Given the description of an element on the screen output the (x, y) to click on. 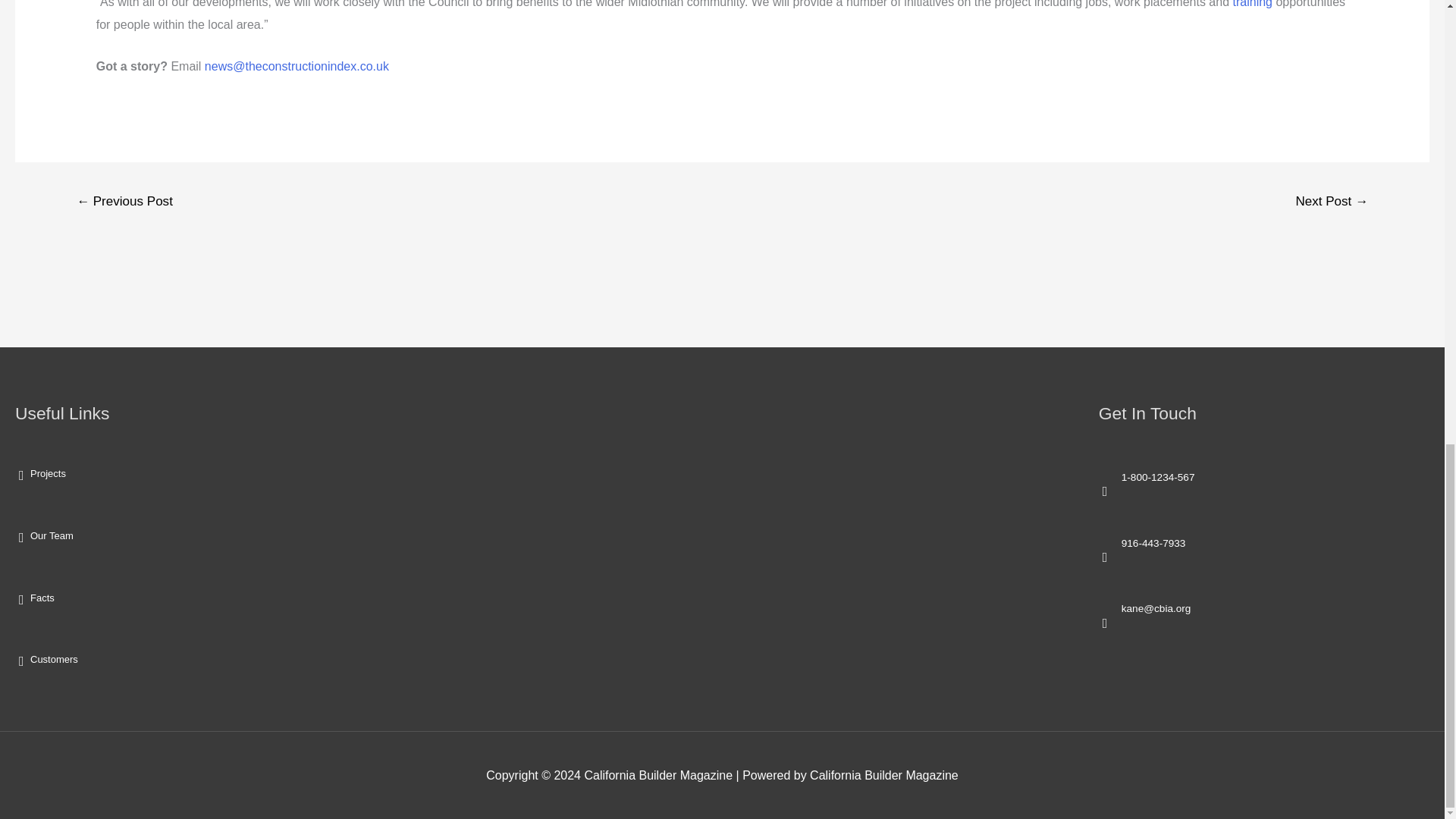
training (1252, 4)
Facts (42, 597)
Our Team (52, 535)
Customers (54, 659)
Search for suppliers of Training (1252, 4)
Projects (47, 473)
